Given the description of an element on the screen output the (x, y) to click on. 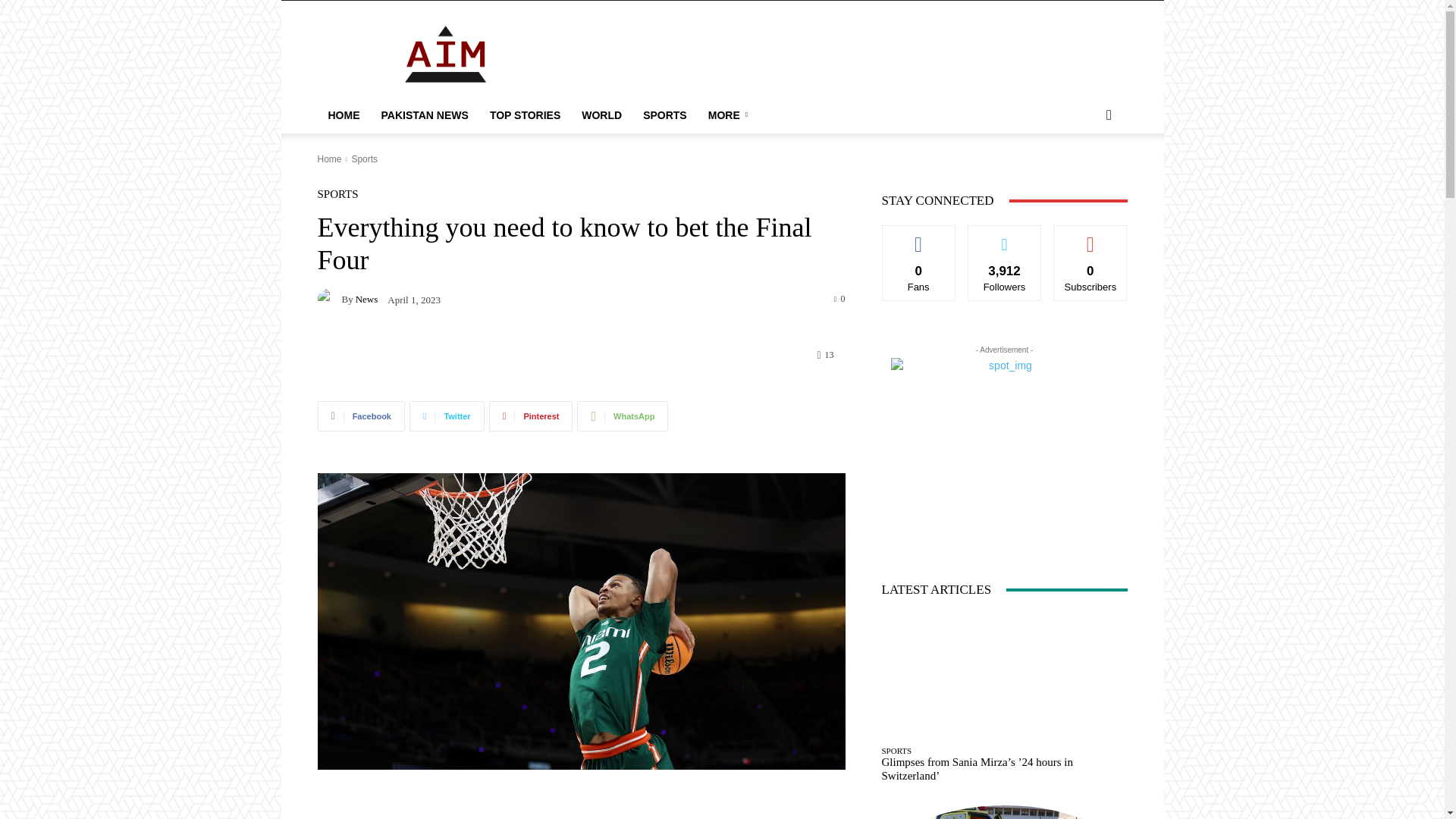
SPORTS (337, 194)
0 (839, 297)
WORLD (600, 115)
News (328, 298)
TOP STORIES (524, 115)
MORE (729, 115)
Home (328, 158)
Pinterest (531, 416)
Twitter (446, 416)
SPORTS (664, 115)
PAKISTAN NEWS (424, 115)
Facebook (360, 416)
WhatsApp (622, 416)
Sports (363, 158)
View all posts in Sports (363, 158)
